Given the description of an element on the screen output the (x, y) to click on. 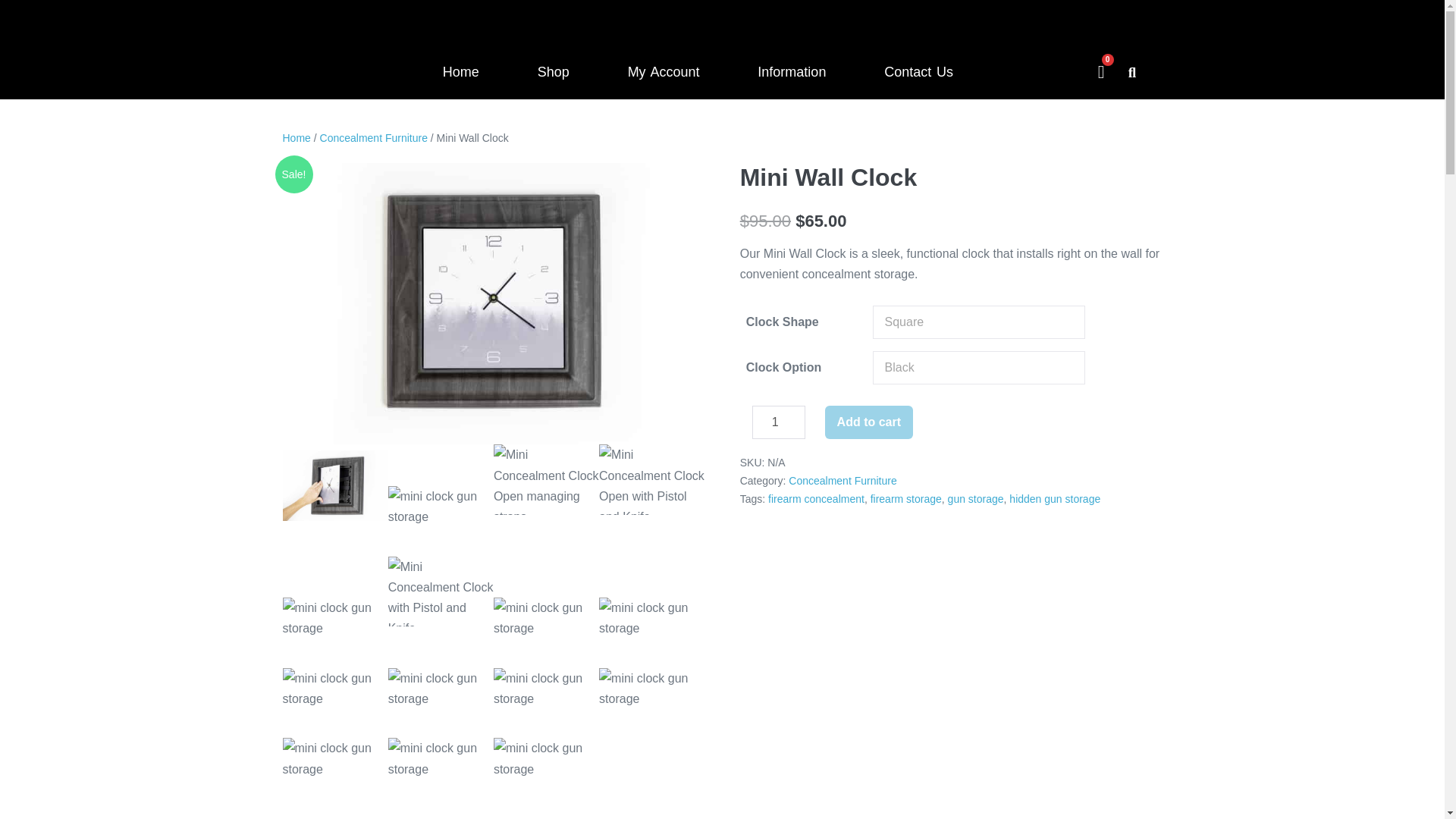
Mini Wall Clock (440, 591)
Mini Wall Clock (651, 703)
1 (778, 421)
My Account (663, 71)
Mini Wall Clock (545, 479)
Mini Wall Clock (334, 632)
Mini Wall Clock (334, 485)
Mini Wall Clock (651, 632)
Shop (553, 71)
Mini Wall Clock (545, 703)
